Given the description of an element on the screen output the (x, y) to click on. 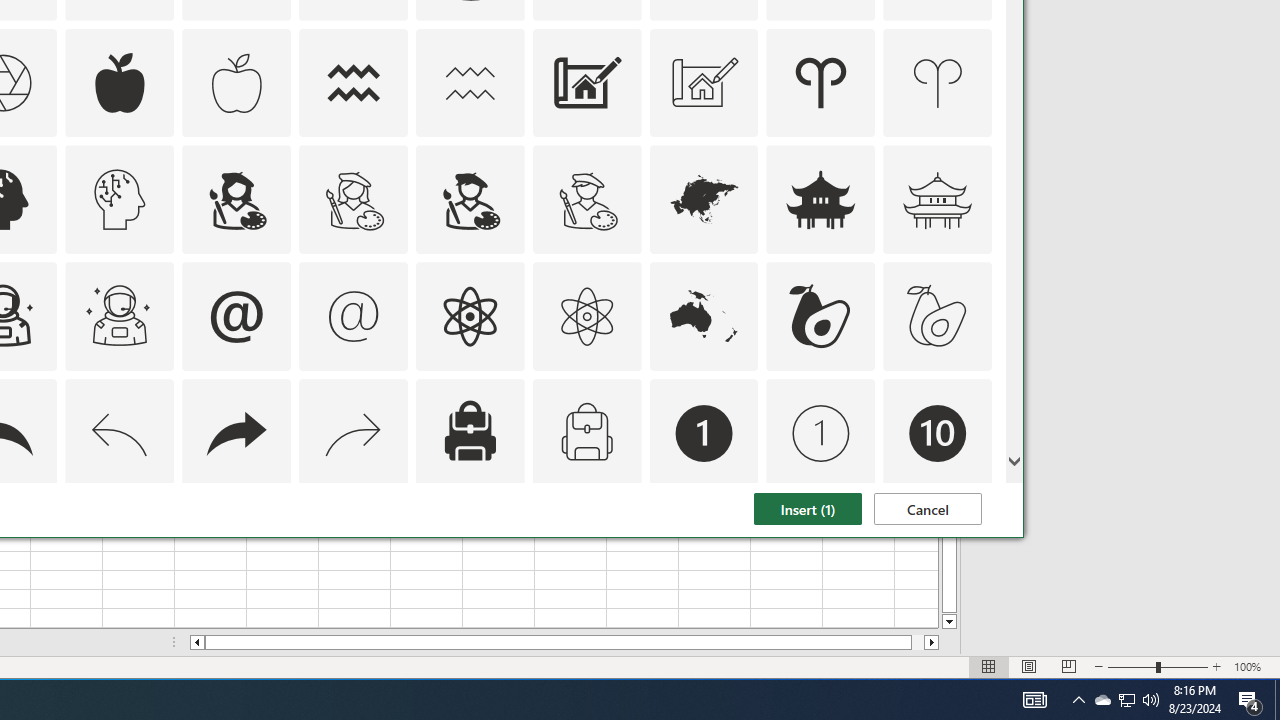
Show desktop (1277, 699)
AutomationID: Icons_Avocado_M (938, 316)
AutomationID: Icons (937, 550)
AutomationID: Icons_Back_RTL_M (353, 434)
AutomationID: Icons_Asia (1102, 699)
